Given the description of an element on the screen output the (x, y) to click on. 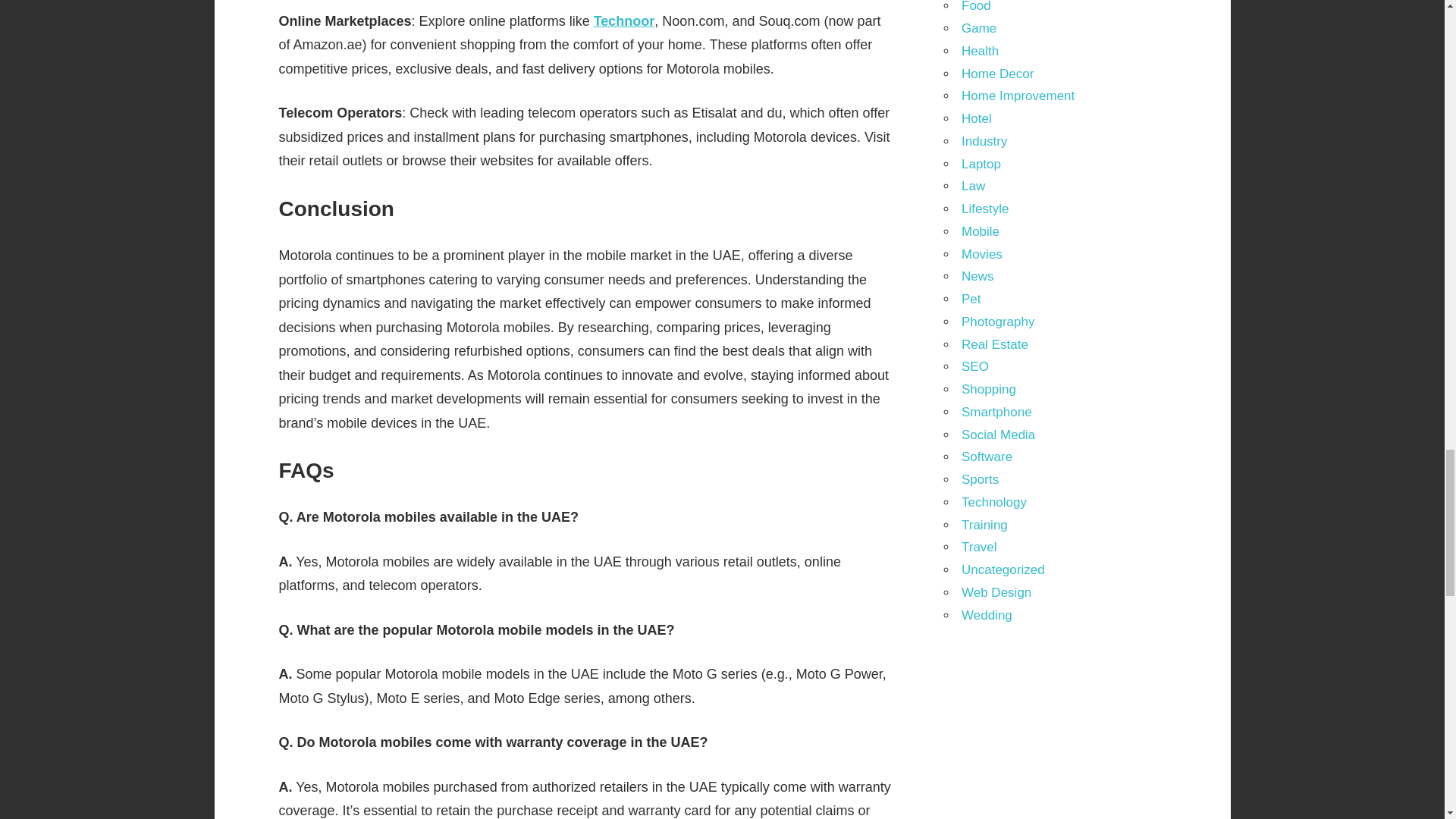
Technoor (624, 20)
